Given the description of an element on the screen output the (x, y) to click on. 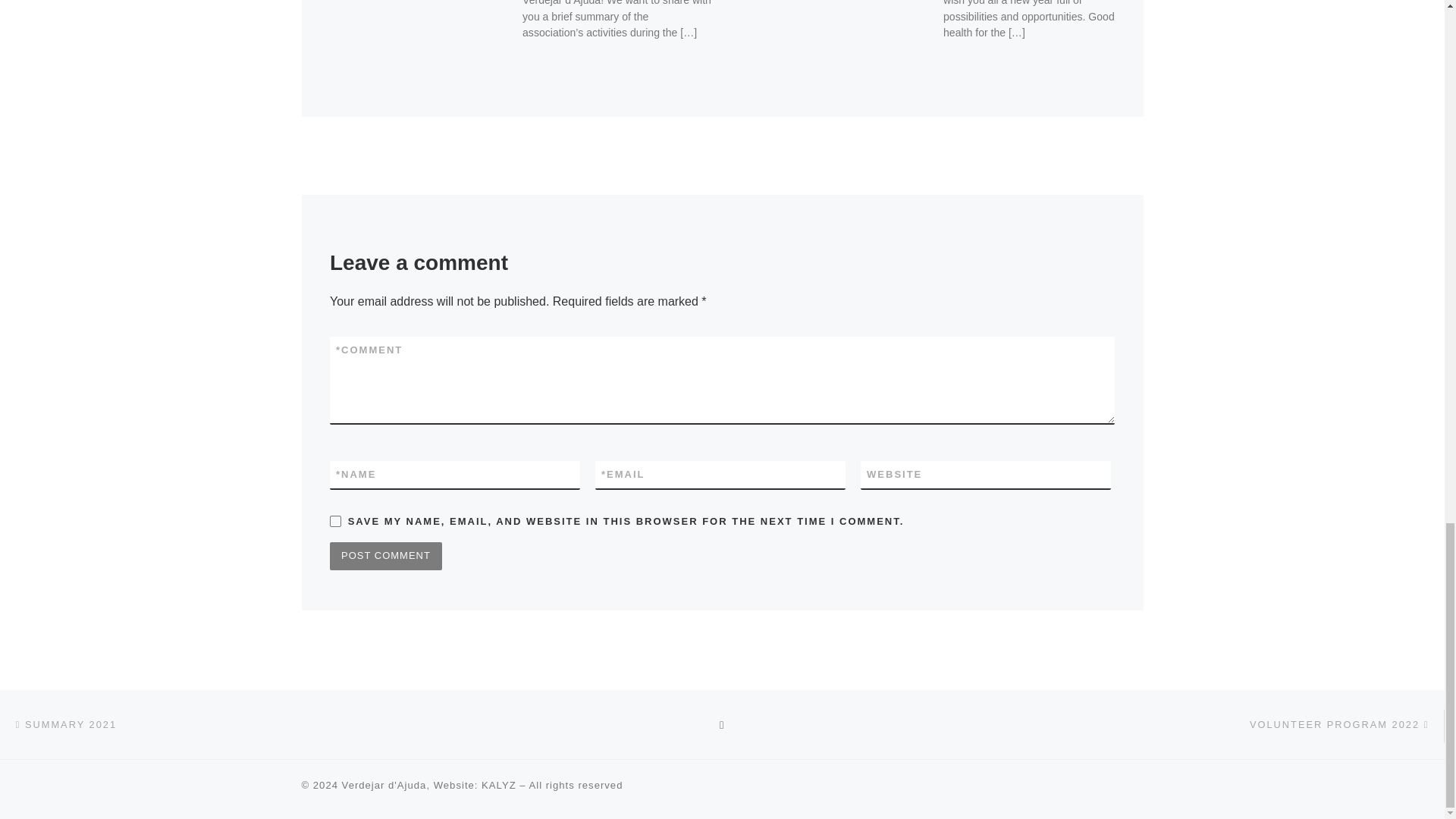
Verdejar d'Ajuda (384, 785)
yes (335, 521)
Post Comment (386, 556)
